Given the description of an element on the screen output the (x, y) to click on. 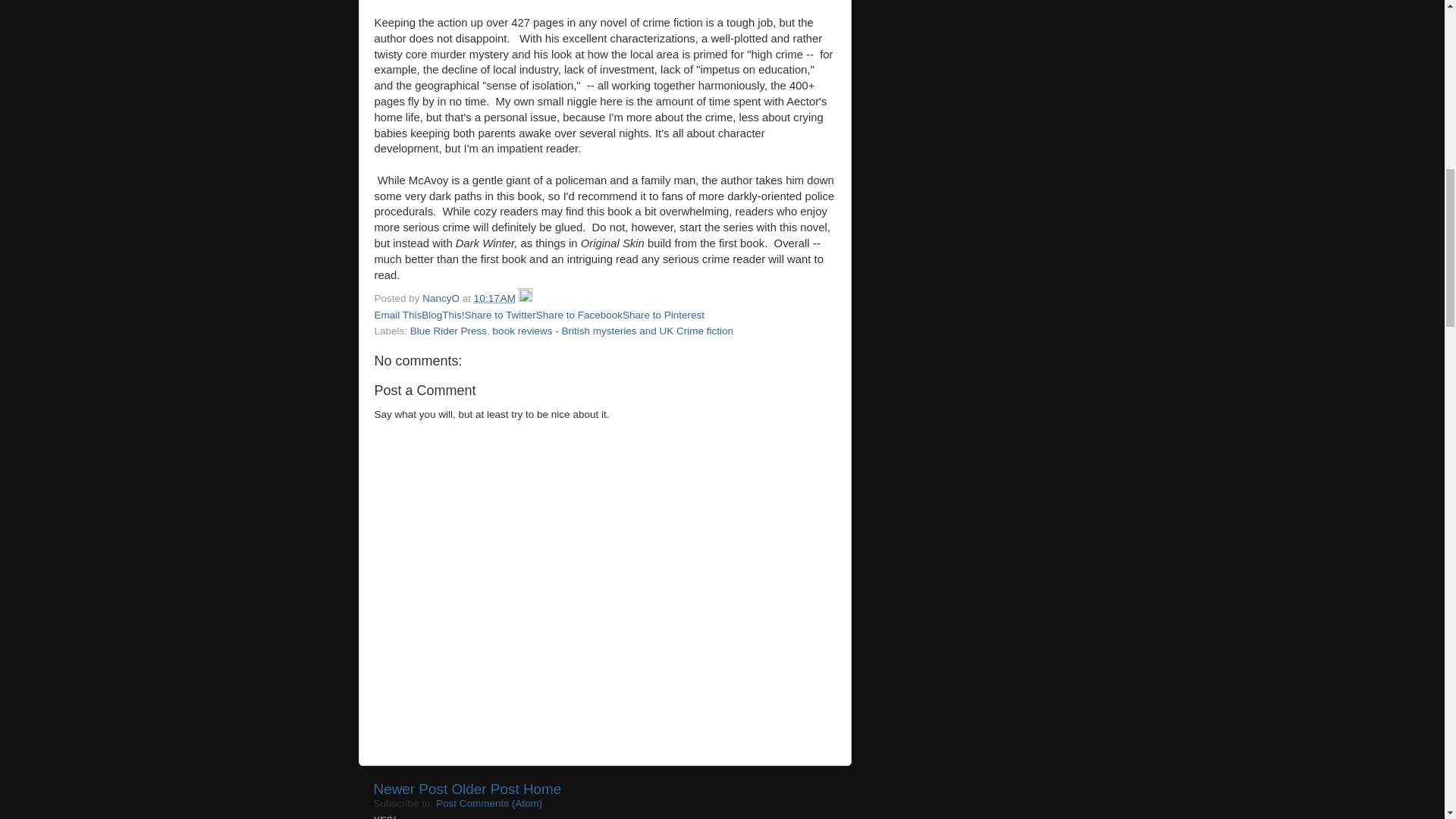
Email This (398, 315)
NancyO (442, 297)
Email This (398, 315)
Newer Post (409, 788)
Share to Pinterest (663, 315)
Share to Facebook (579, 315)
Older Post (484, 788)
permanent link (494, 297)
Share to Twitter (499, 315)
author profile (442, 297)
book reviews - British mysteries and UK Crime fiction (613, 330)
Share to Pinterest (663, 315)
BlogThis! (443, 315)
Share to Twitter (499, 315)
Share to Facebook (579, 315)
